Given the description of an element on the screen output the (x, y) to click on. 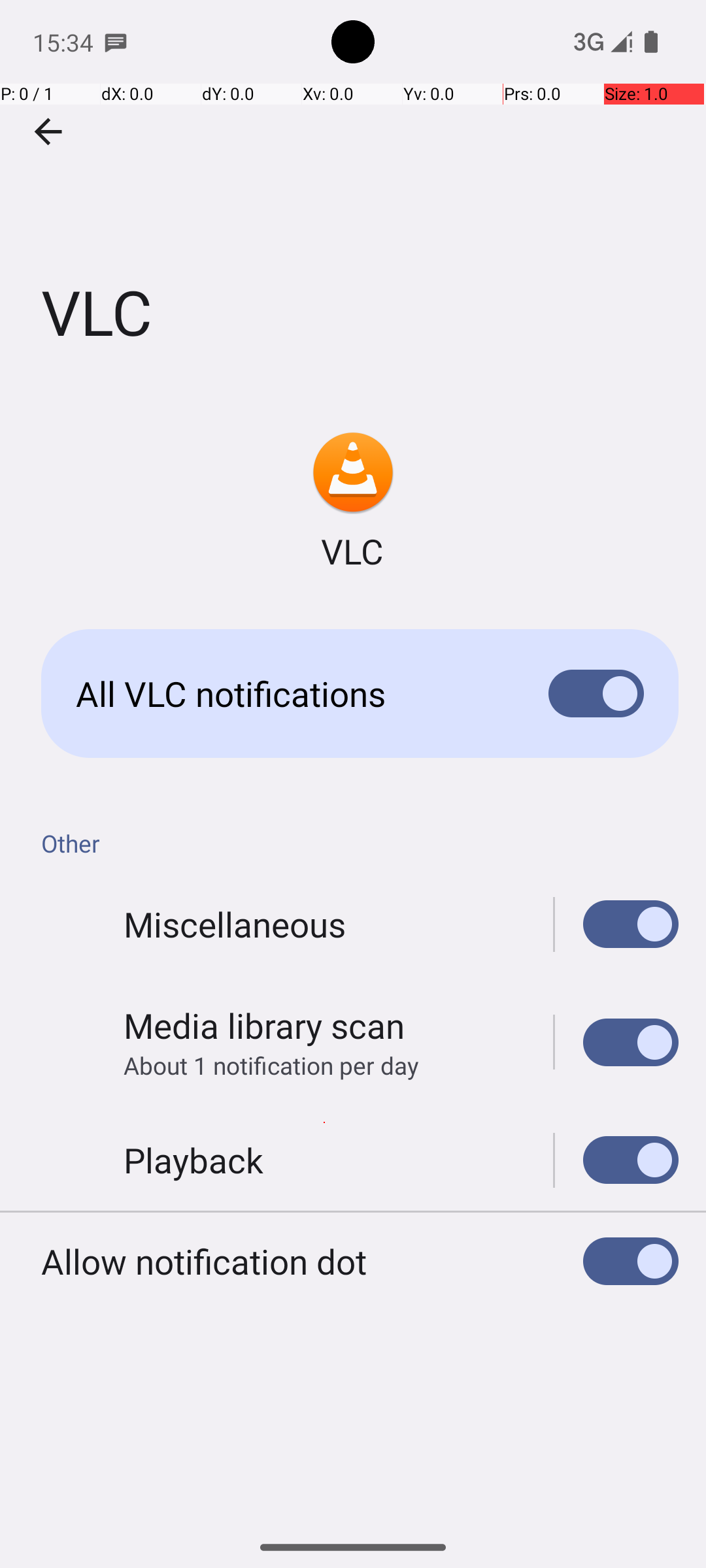
All VLC notifications Element type: android.widget.TextView (291, 693)
Media library scan Element type: android.widget.TextView (264, 1025)
About 1 notification per day Element type: android.widget.TextView (271, 1064)
Playback Element type: android.widget.TextView (193, 1159)
